Given the description of an element on the screen output the (x, y) to click on. 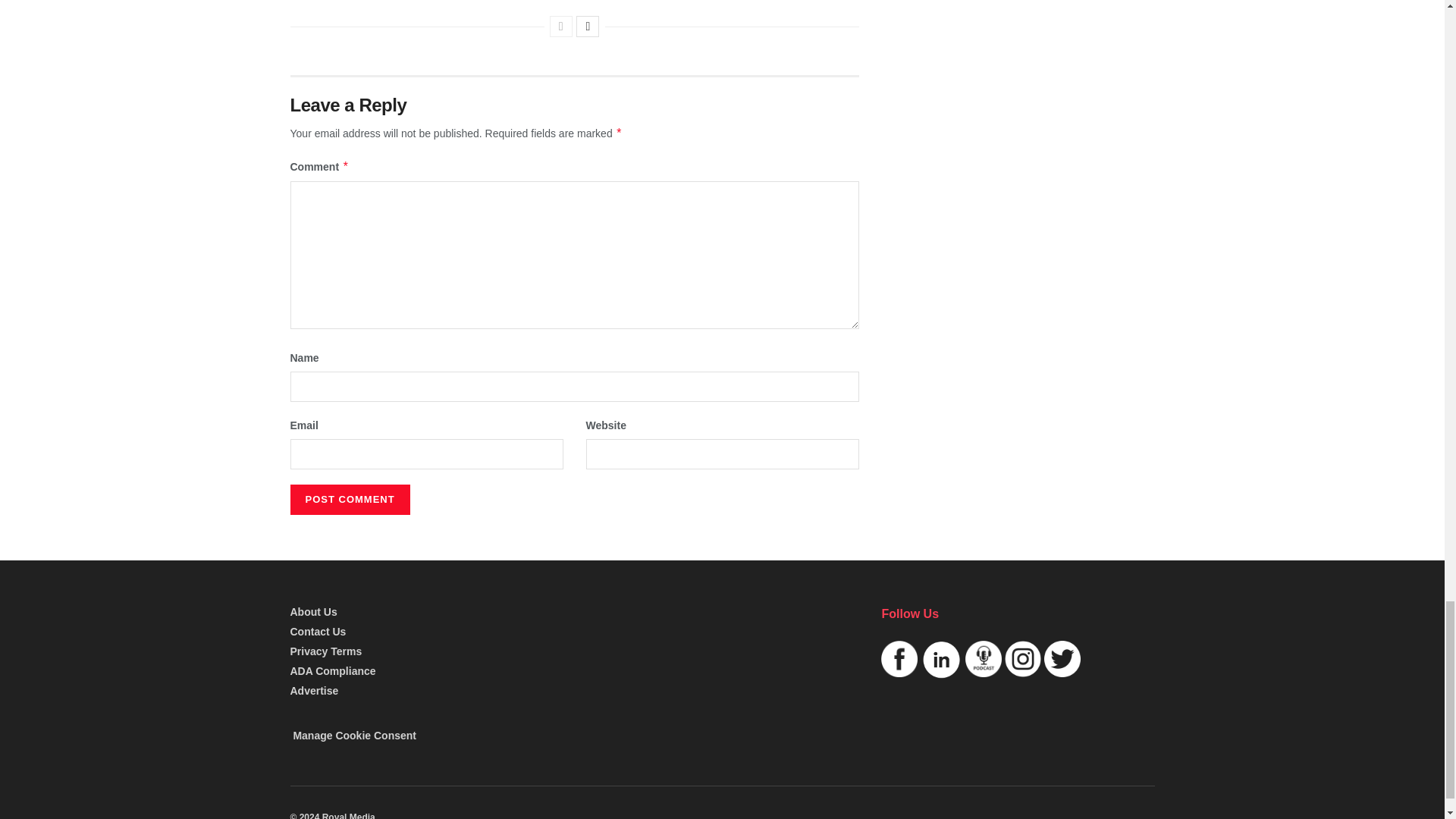
Royal Media (331, 815)
Post Comment (349, 499)
Next (587, 25)
Previous (561, 25)
